Given the description of an element on the screen output the (x, y) to click on. 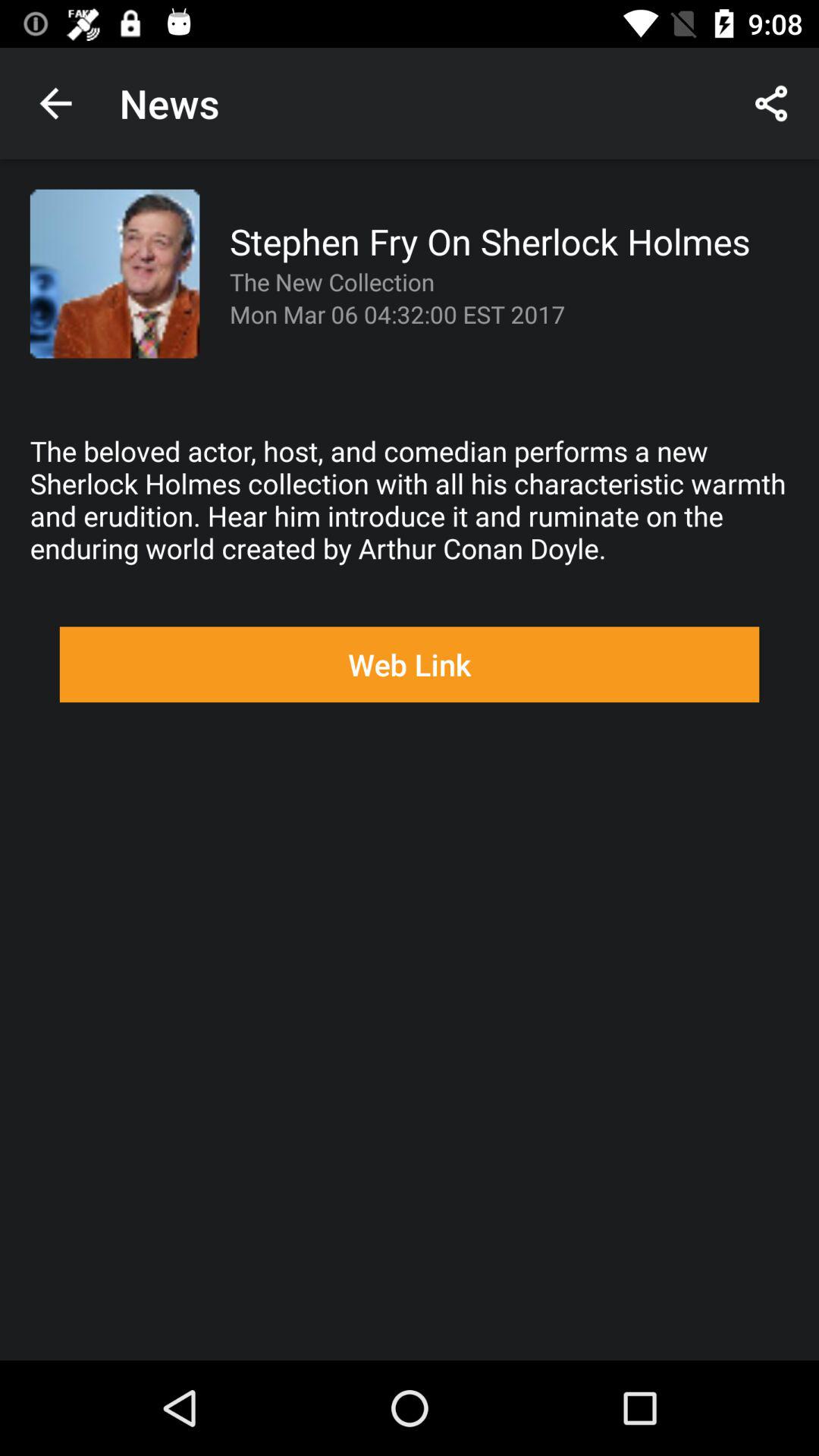
open icon above stephen fry on item (771, 103)
